Given the description of an element on the screen output the (x, y) to click on. 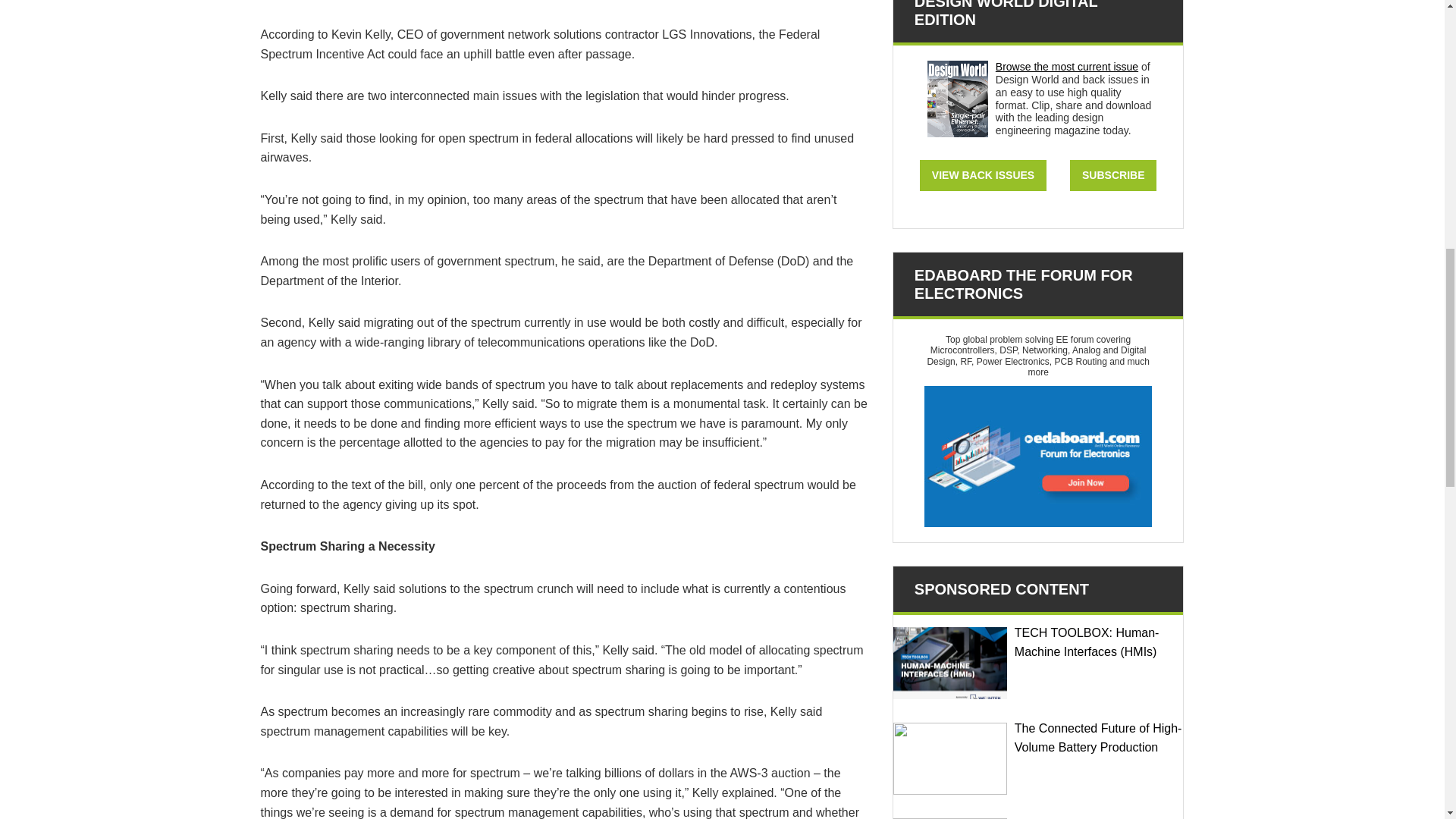
The Connected Future of High-Volume Battery Production (950, 758)
EDABoard: Forum for electronics (1037, 456)
